Given the description of an element on the screen output the (x, y) to click on. 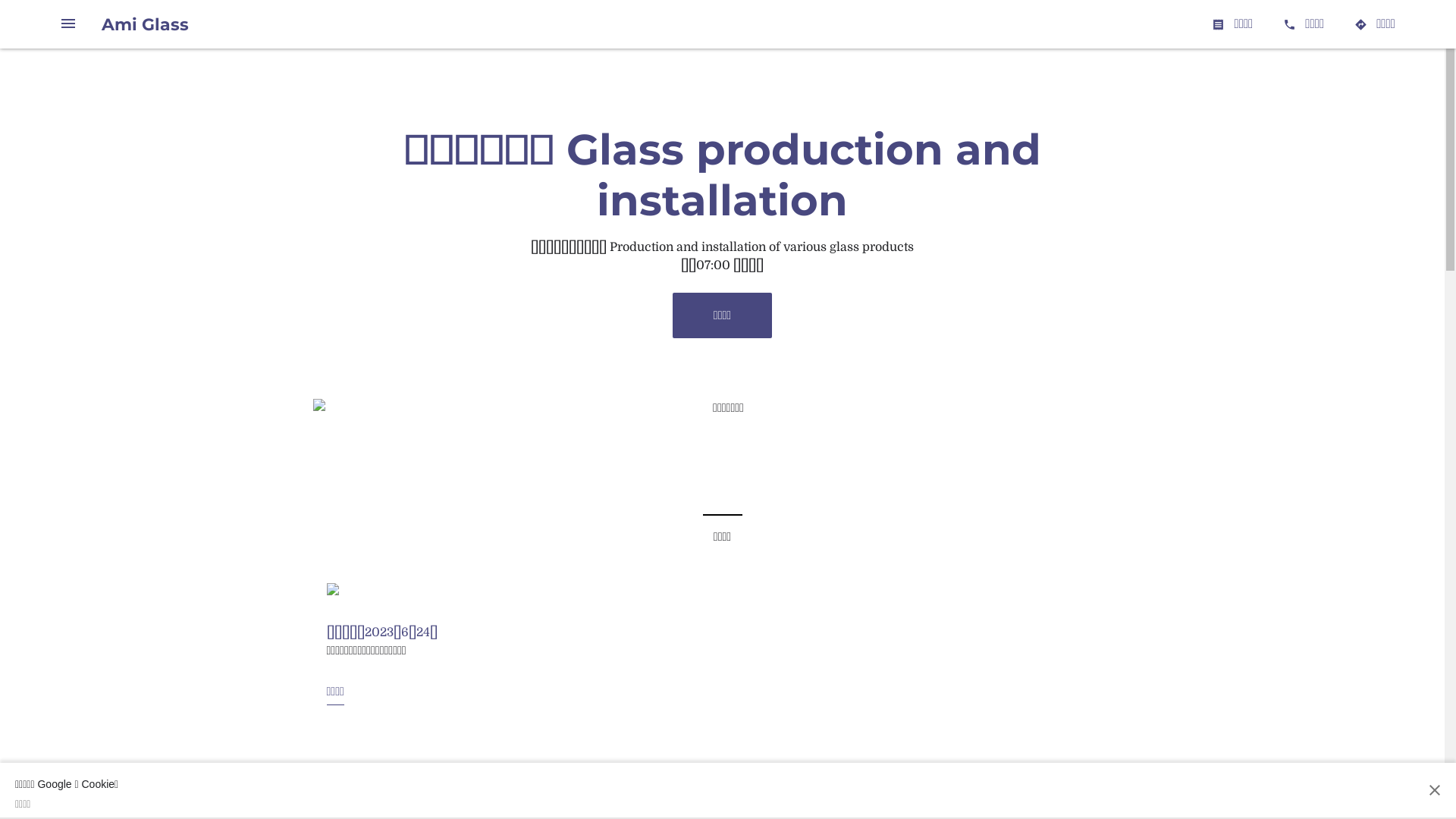
Ami Glass Element type: text (144, 23)
